Given the description of an element on the screen output the (x, y) to click on. 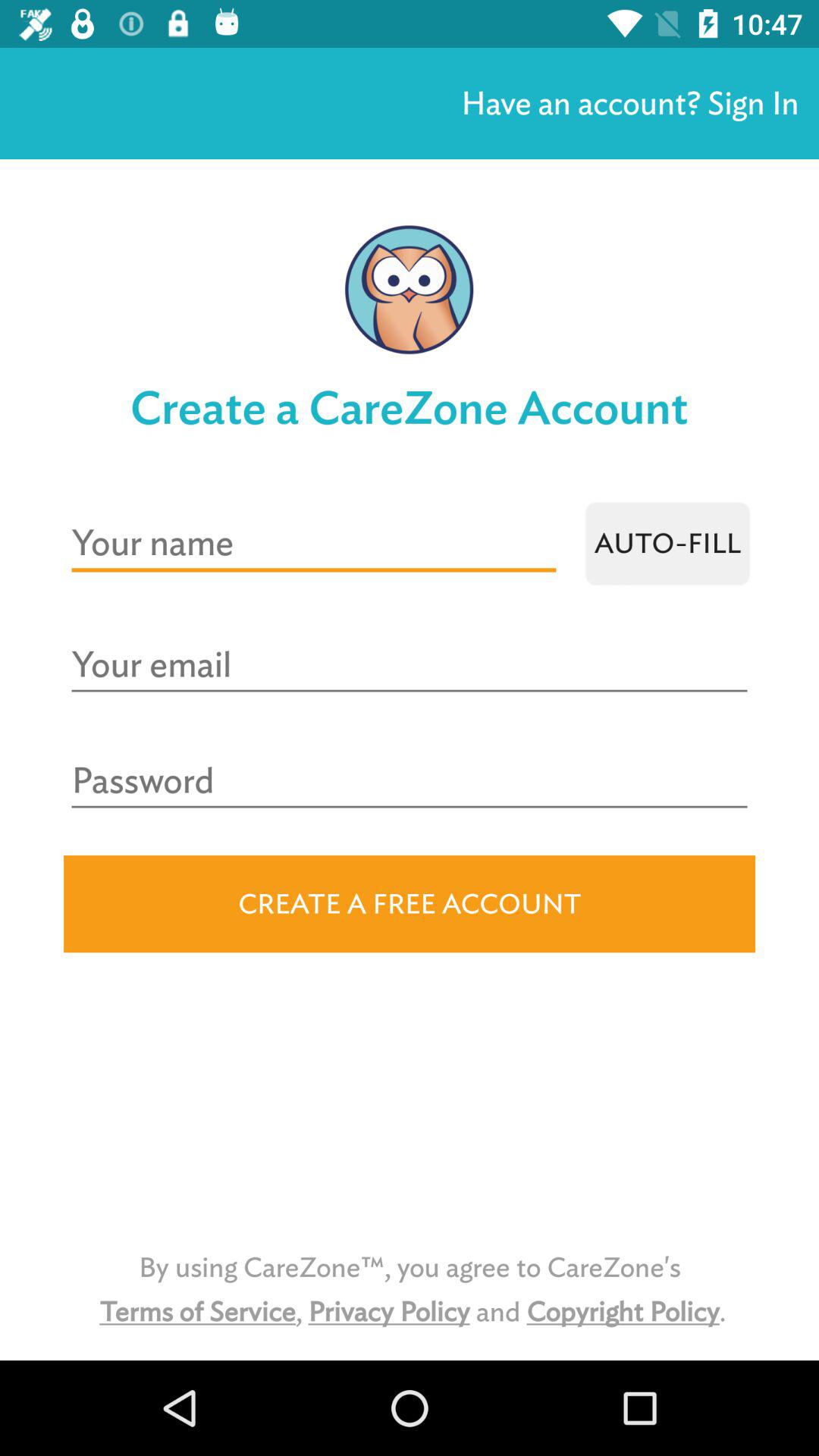
select auto-fill (667, 543)
